Given the description of an element on the screen output the (x, y) to click on. 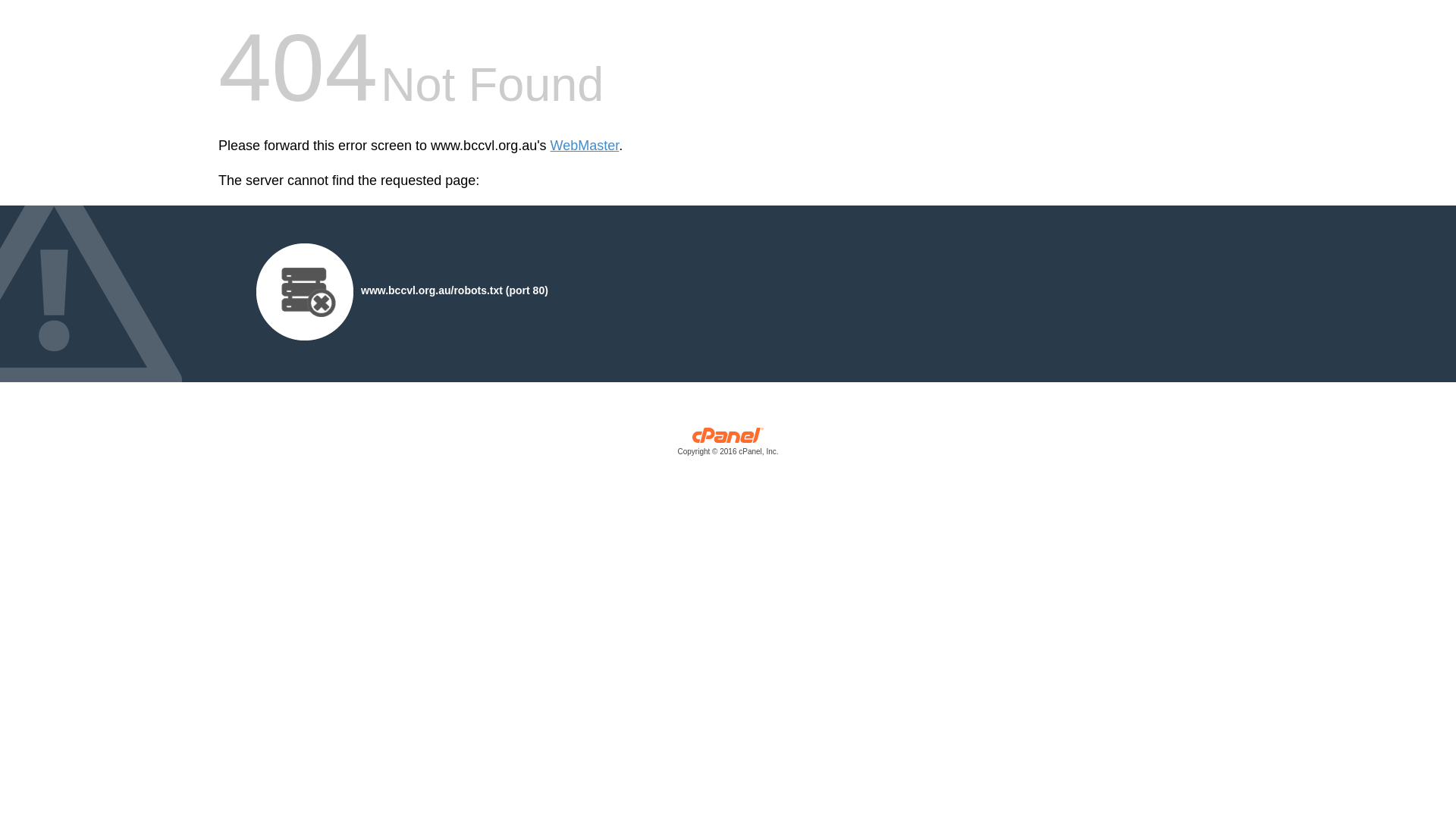
WebMaster Element type: text (584, 145)
